Given the description of an element on the screen output the (x, y) to click on. 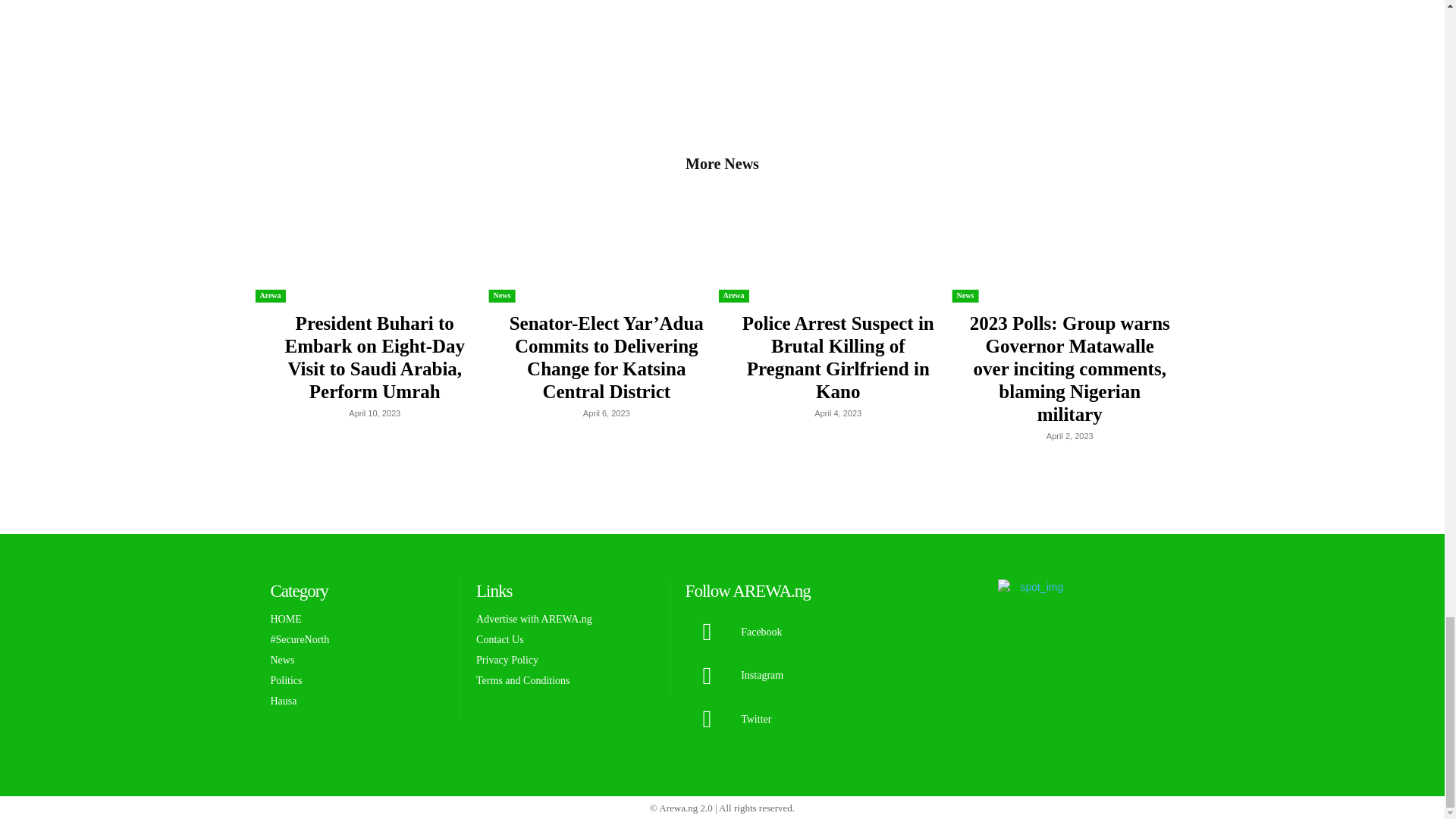
Arewa (269, 295)
News (502, 295)
Facebook (707, 632)
Instagram (707, 676)
